Given the description of an element on the screen output the (x, y) to click on. 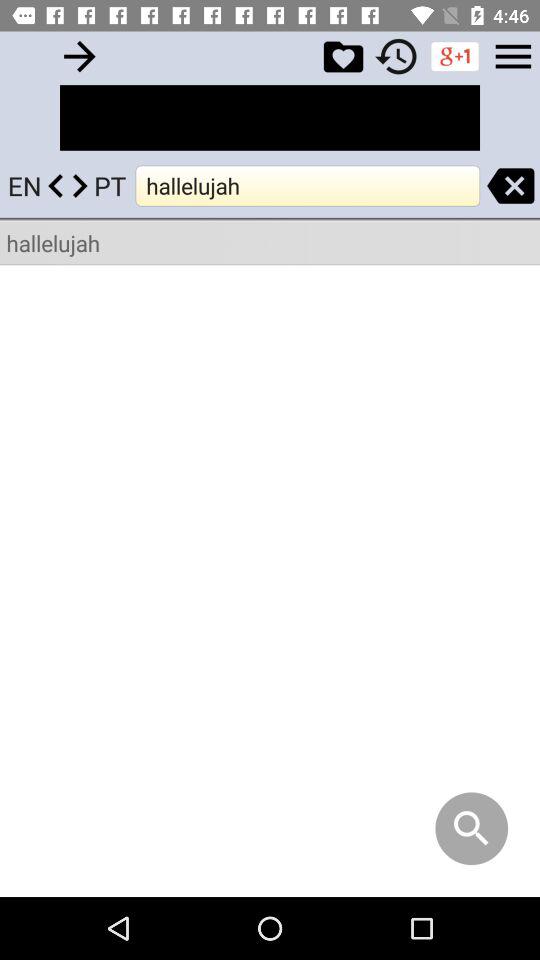
saved files (343, 56)
